Given the description of an element on the screen output the (x, y) to click on. 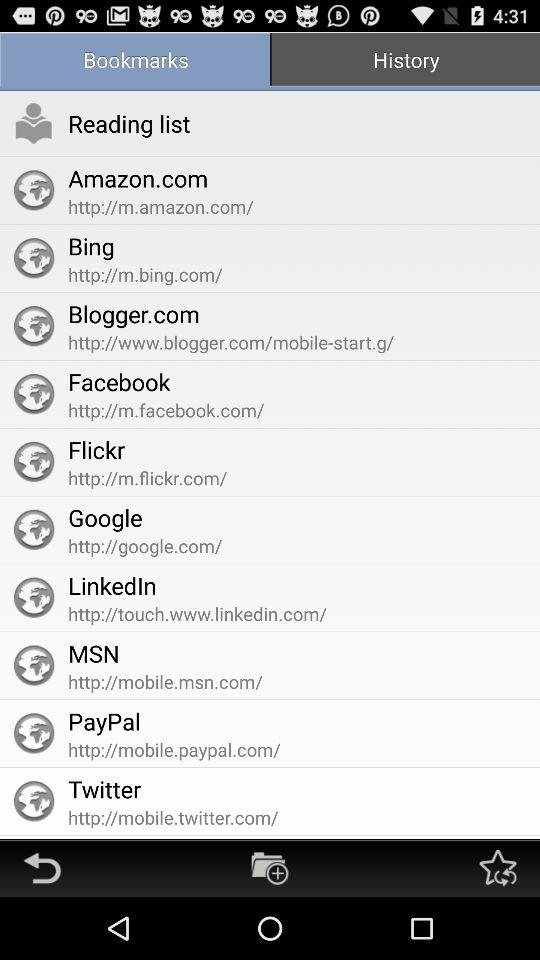
flip to history item (405, 61)
